Given the description of an element on the screen output the (x, y) to click on. 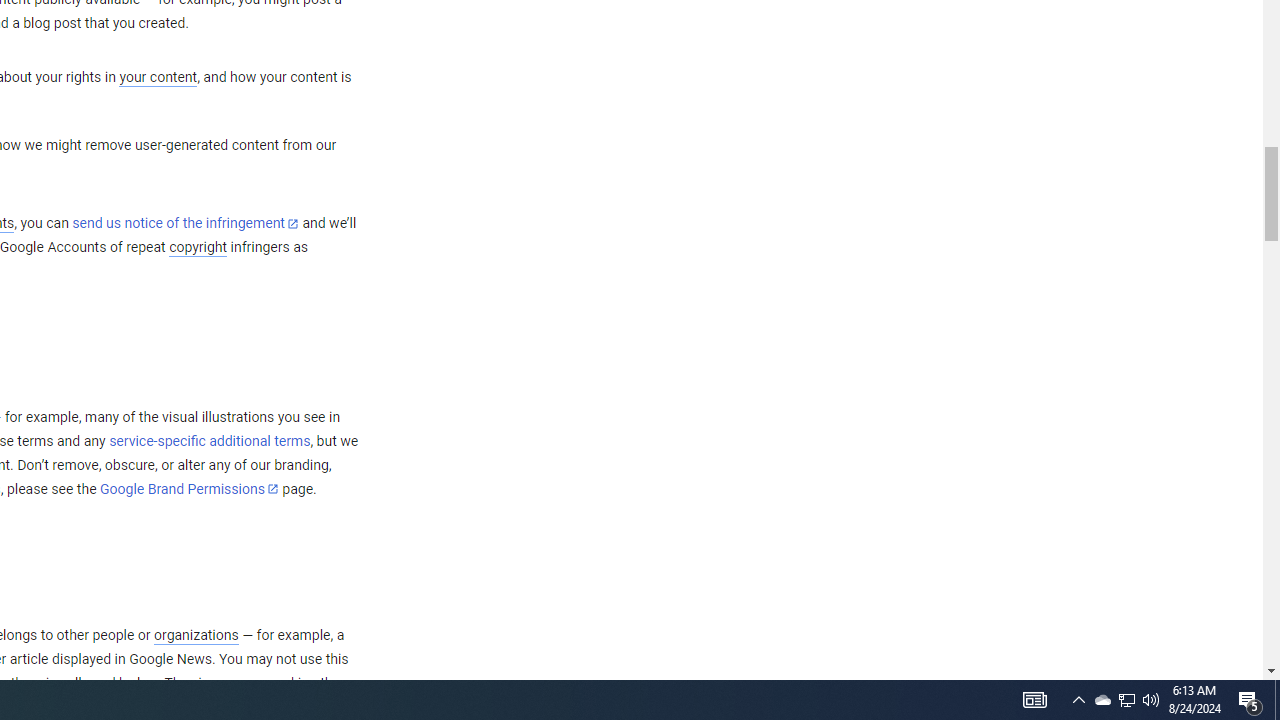
send us notice of the infringement (185, 224)
your content (158, 78)
copyright (197, 248)
organizations (196, 635)
Google Brand Permissions (189, 489)
service-specific additional terms (209, 441)
